Given the description of an element on the screen output the (x, y) to click on. 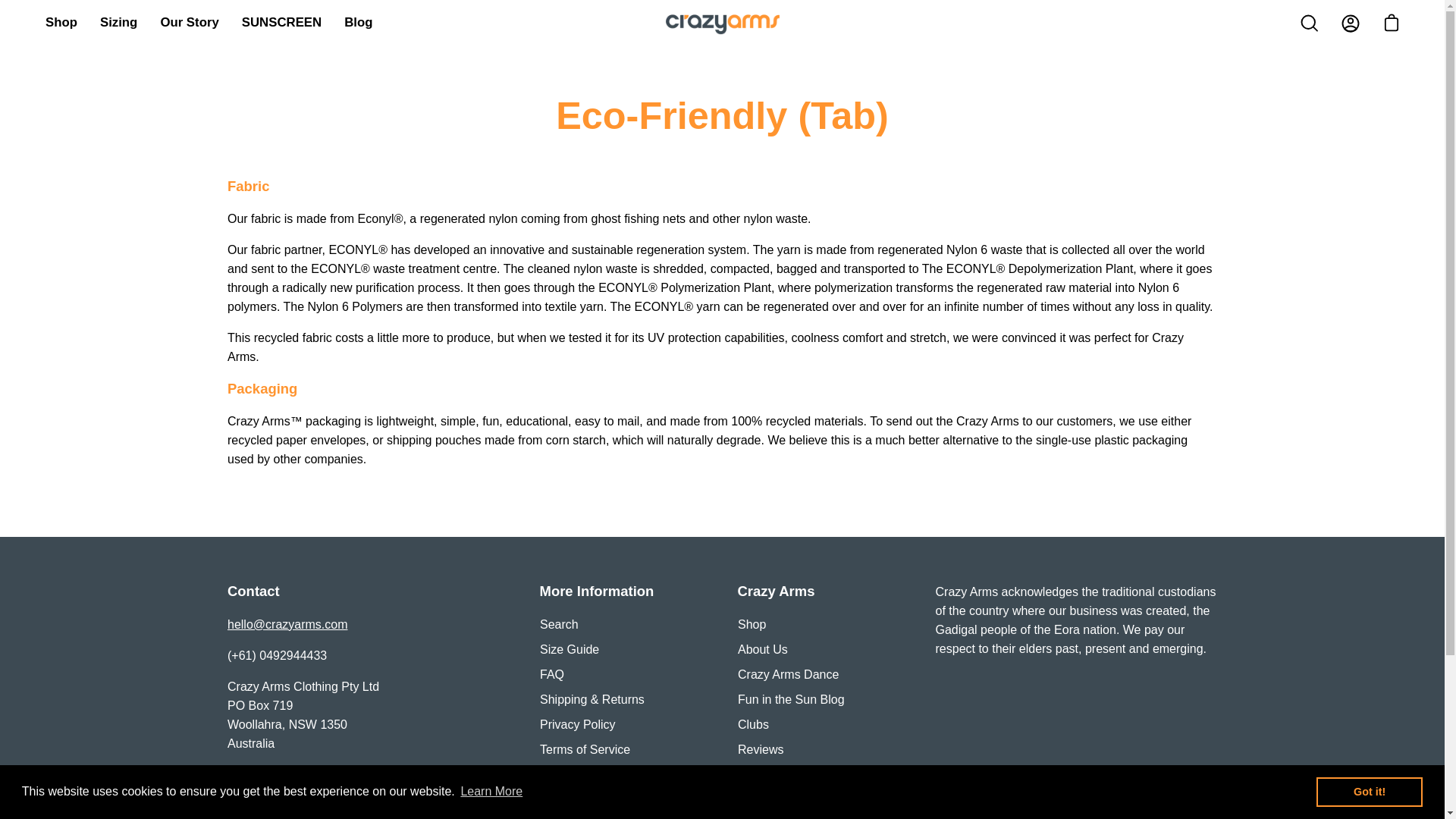
Learn More (491, 791)
Contact Us (287, 624)
Got it! (1369, 791)
